Given the description of an element on the screen output the (x, y) to click on. 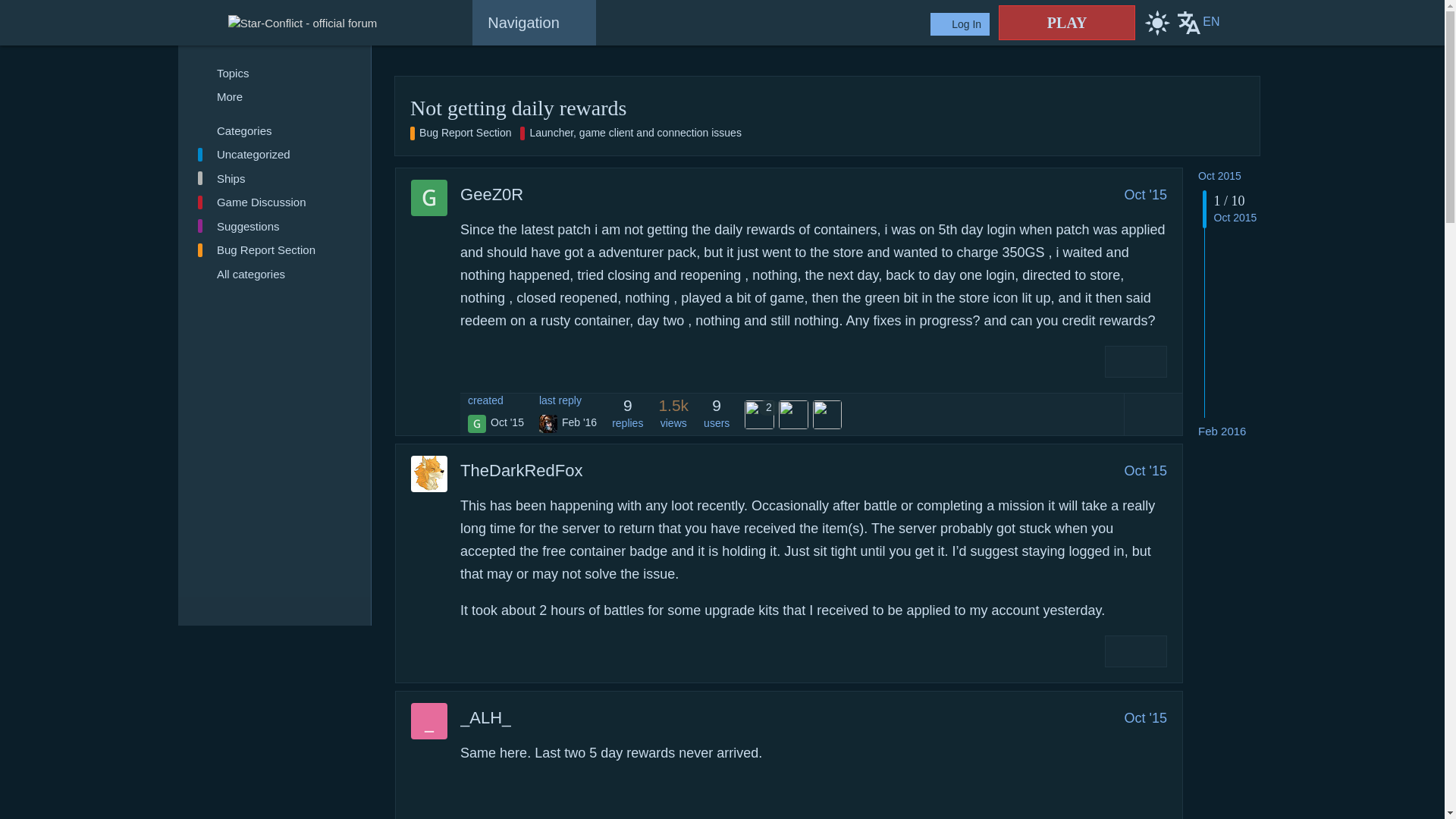
Game Discussion (274, 202)
Play (1066, 22)
Uncategorized (274, 154)
More (274, 96)
Categories (274, 130)
Ships (274, 178)
last reply (567, 399)
Not getting daily rewards (518, 108)
PLAY (1066, 22)
Bug Report Section (274, 250)
Search (1242, 22)
2 (761, 414)
Suggestions (274, 225)
GeeZ0R (491, 194)
Feb 2016 (1222, 430)
